Given the description of an element on the screen output the (x, y) to click on. 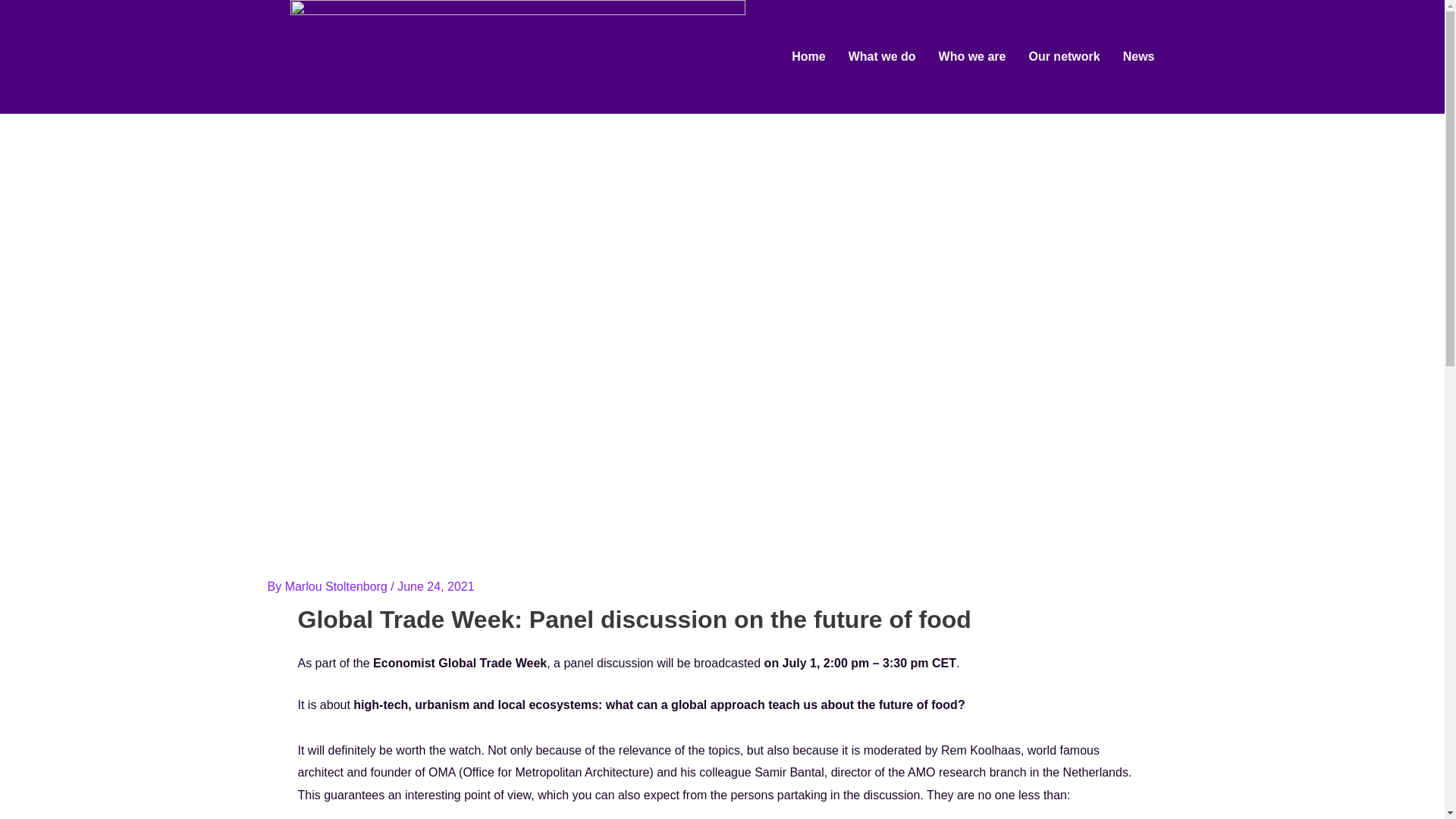
View all posts by Marlou Stoltenborg (338, 585)
What we do (881, 56)
Home (808, 56)
News (1138, 56)
Marlou Stoltenborg (338, 585)
Who we are (972, 56)
Our network (1063, 56)
